Given the description of an element on the screen output the (x, y) to click on. 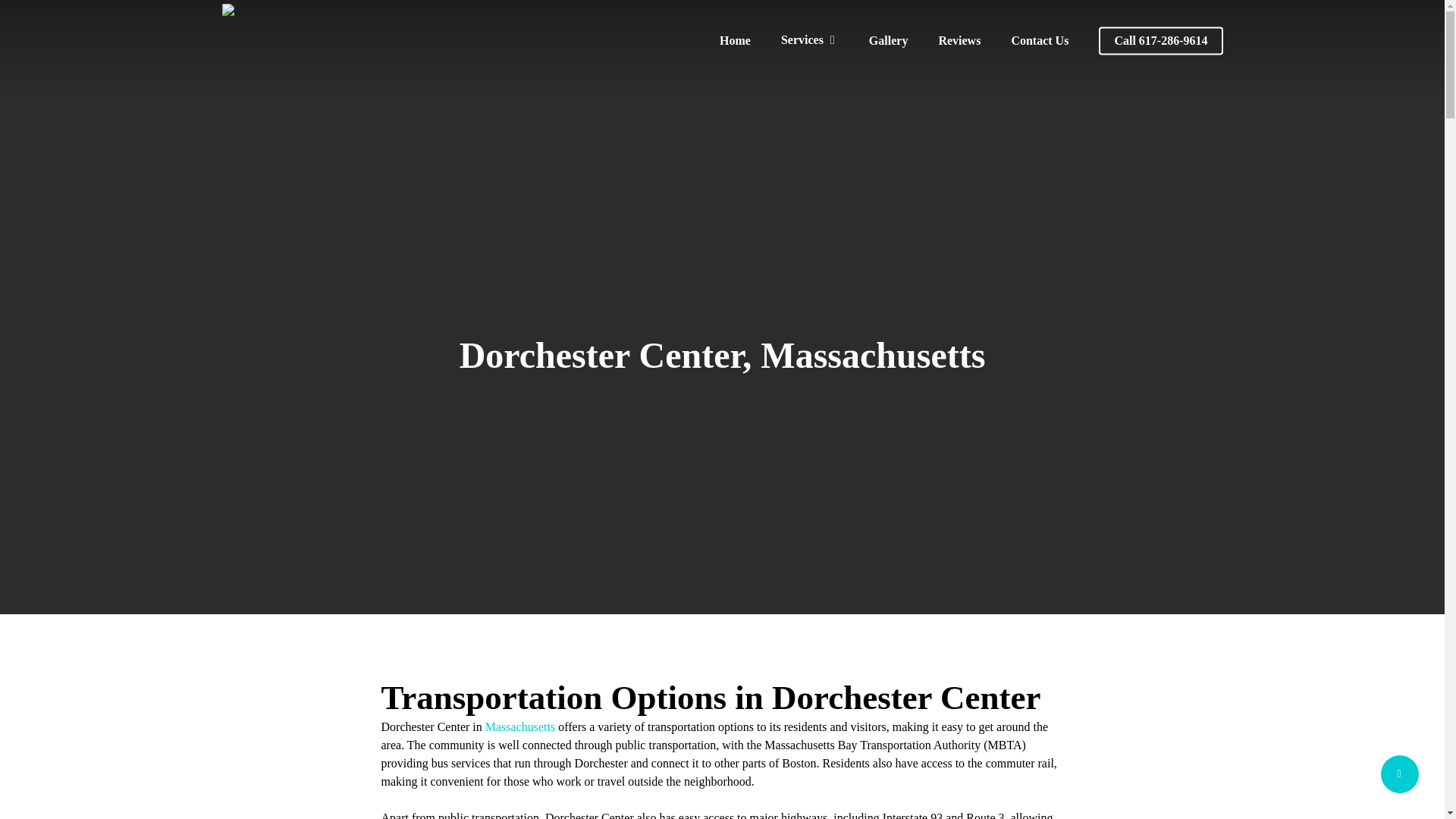
Gallery (888, 40)
Contact Us (1039, 40)
Call 617-286-9614 (1161, 40)
Services (809, 40)
Reviews (959, 40)
Home (734, 40)
Massachusetts (519, 726)
